Given the description of an element on the screen output the (x, y) to click on. 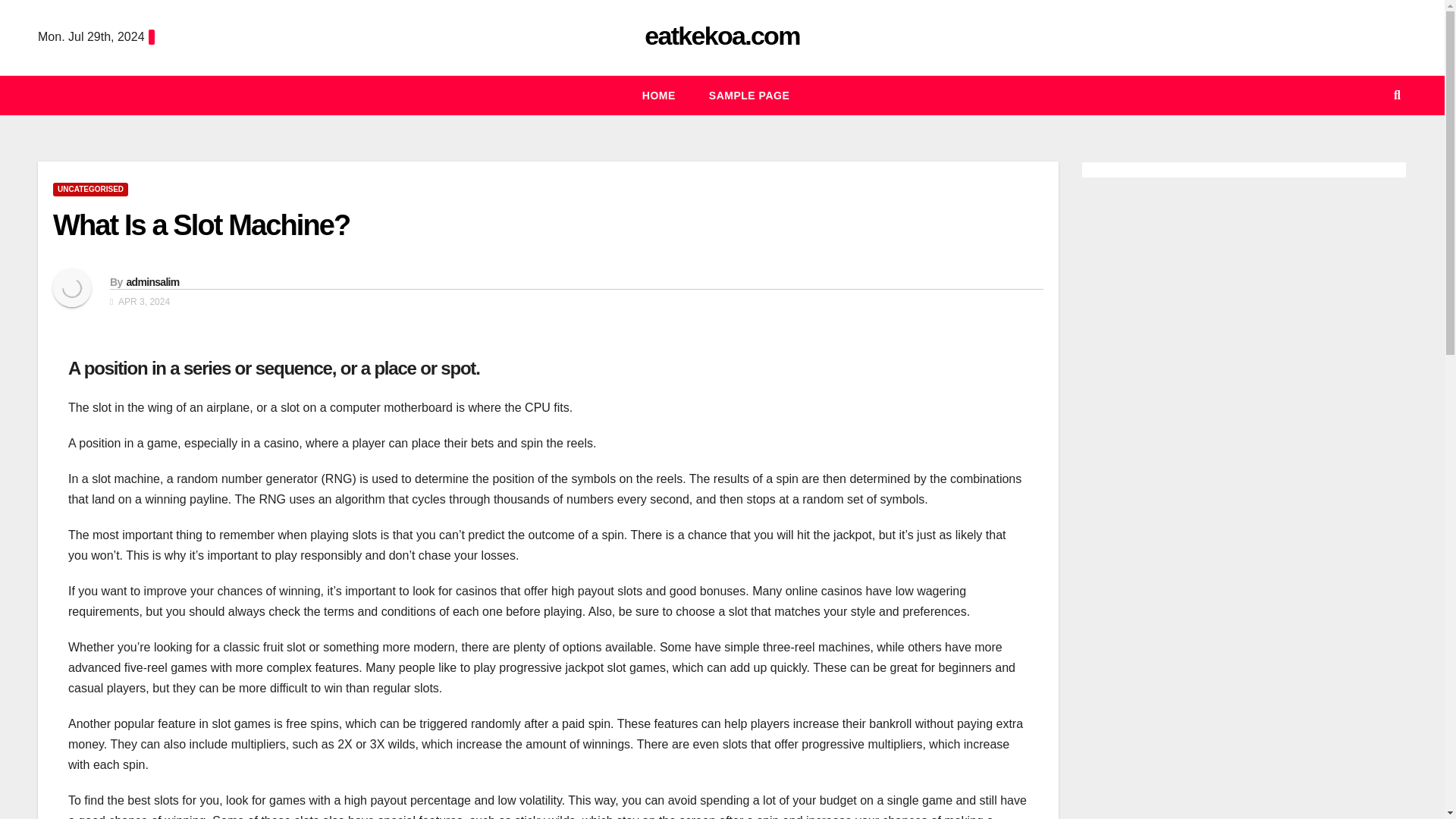
HOME (659, 95)
adminsalim (152, 282)
eatkekoa.com (722, 35)
Home (659, 95)
Permalink to: What Is a Slot Machine? (200, 224)
SAMPLE PAGE (749, 95)
UNCATEGORISED (90, 189)
What Is a Slot Machine? (200, 224)
